Given the description of an element on the screen output the (x, y) to click on. 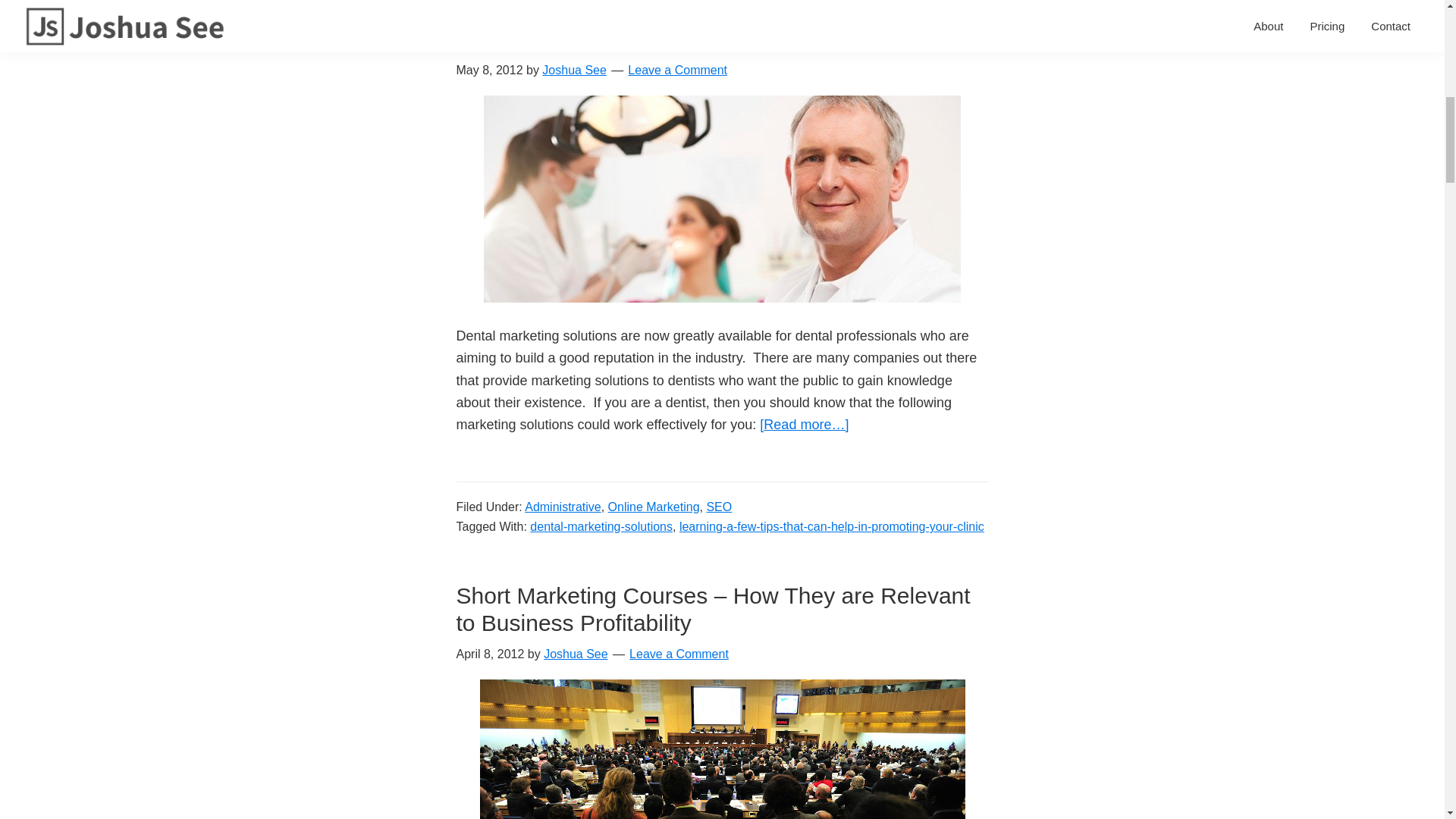
SEO (719, 506)
Joshua See (575, 653)
Joshua See (574, 69)
Leave a Comment (678, 653)
dental-marketing-solutions (600, 526)
learning-a-few-tips-that-can-help-in-promoting-your-clinic (831, 526)
Online Marketing (654, 506)
Administrative (561, 506)
Leave a Comment (676, 69)
